Given the description of an element on the screen output the (x, y) to click on. 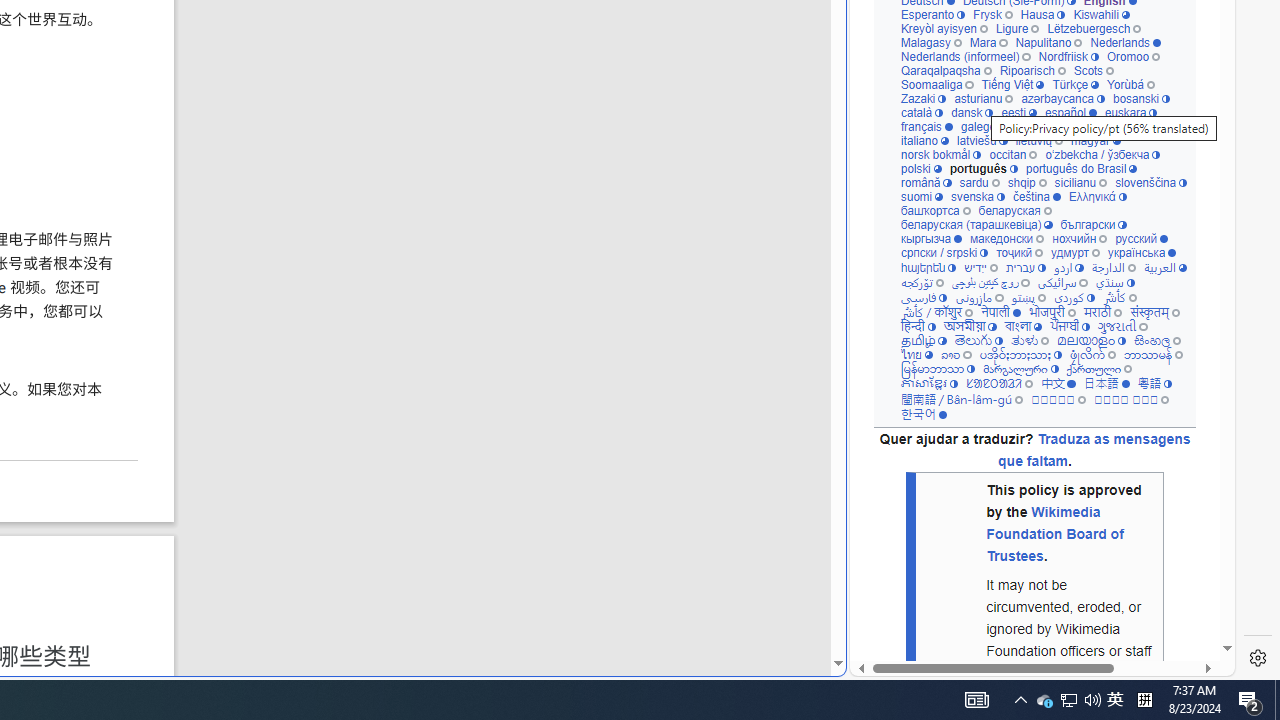
bosanski (1141, 97)
Hausa (1043, 14)
Wikimedia Foundation Board of Trustees (1054, 533)
Kiswahili (1101, 14)
Traduza as mensagens que faltam (1094, 450)
italiano (923, 140)
